Given the description of an element on the screen output the (x, y) to click on. 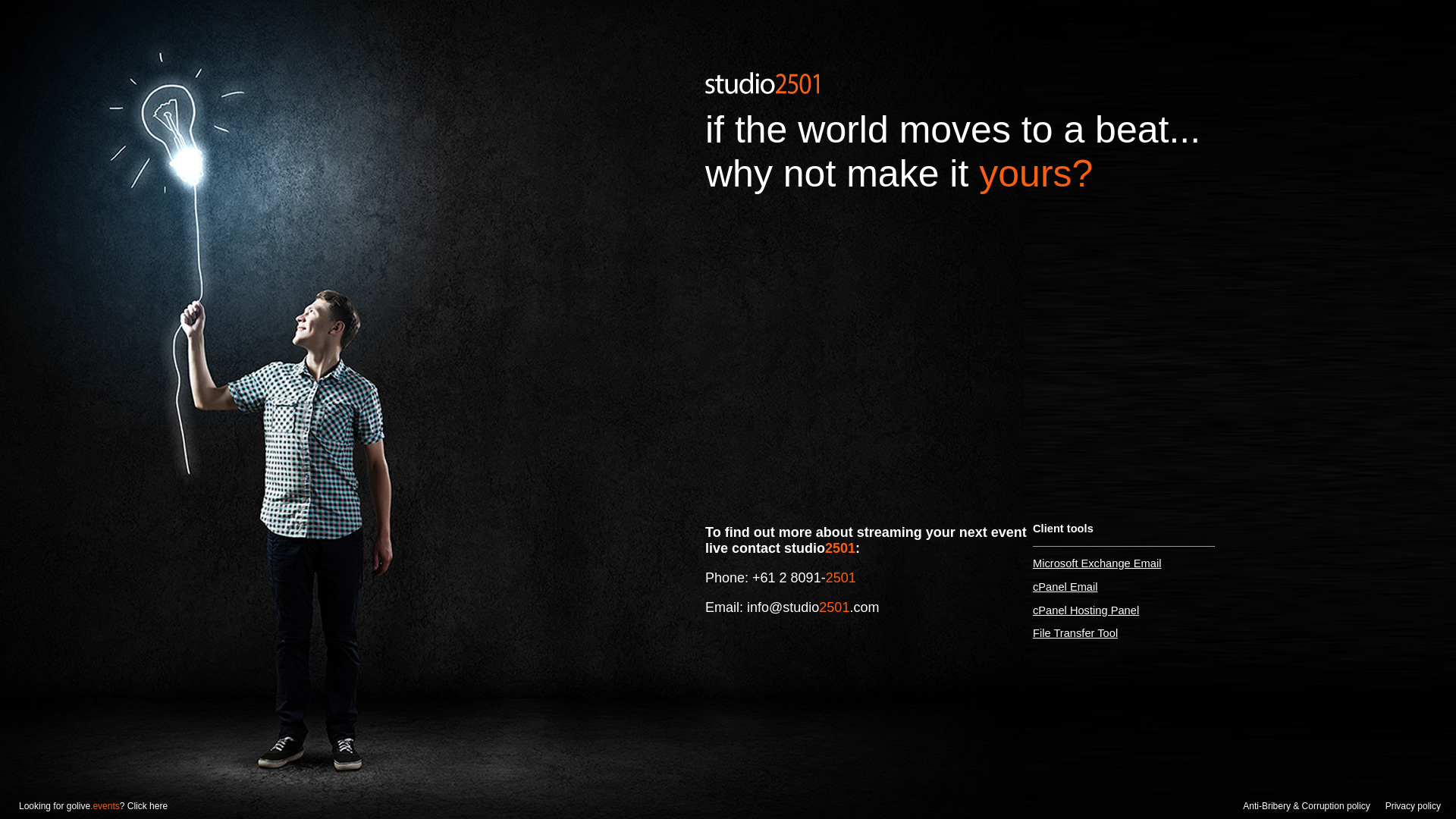
cPanel Hosting Panel Element type: text (1085, 610)
File Transfer Tool Element type: text (1074, 633)
Anti-Bribery & Corruption policy Element type: text (1305, 805)
Microsoft Exchange Email Element type: text (1096, 563)
cPanel Email Element type: text (1065, 586)
Looking for golive.events? Click here Element type: text (83, 805)
Privacy policy Element type: text (1412, 805)
